Given the description of an element on the screen output the (x, y) to click on. 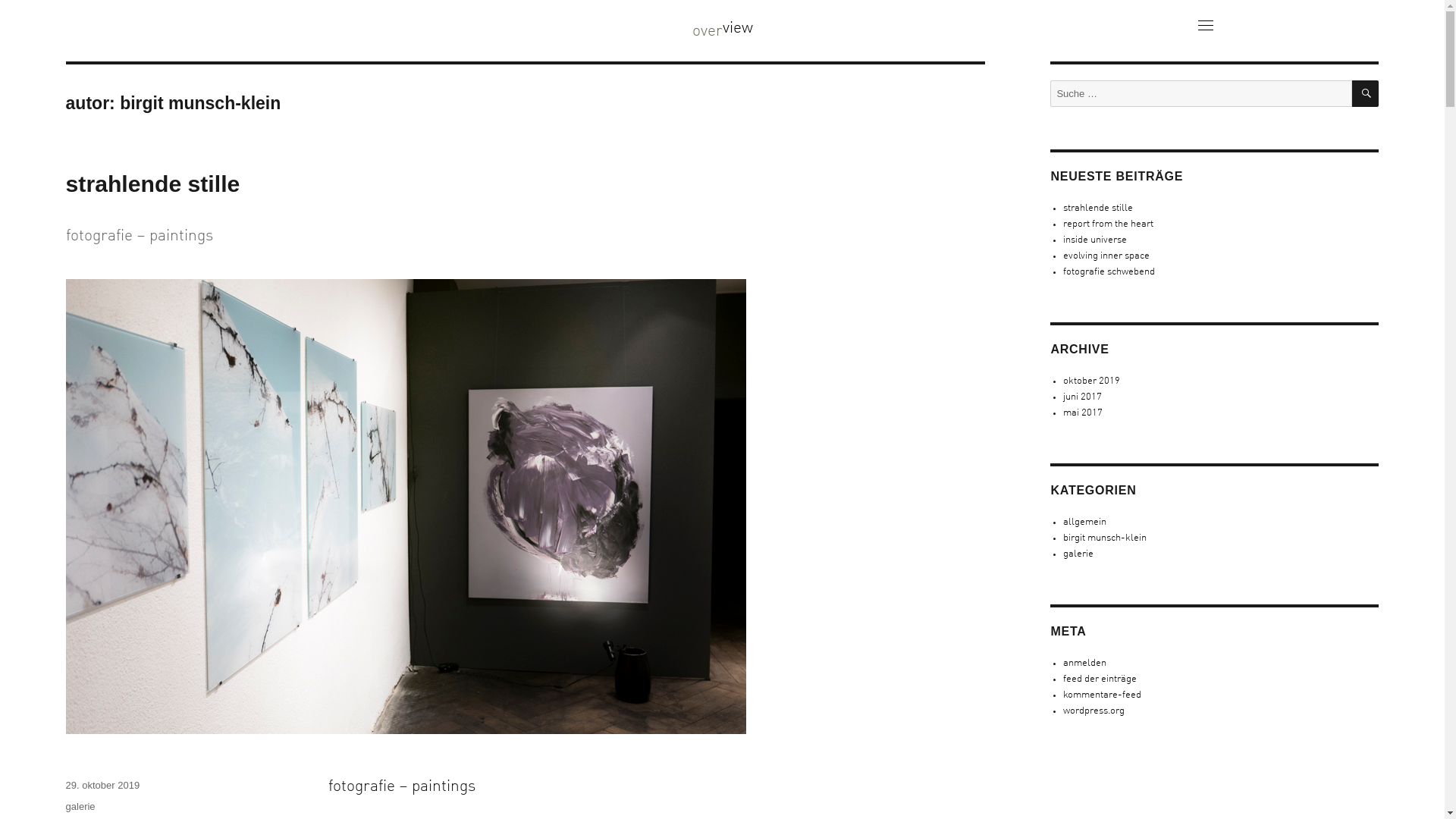
29. oktober 2019 Element type: text (102, 784)
birgit munsch-klein Element type: text (1104, 537)
mai 2017 Element type: text (1082, 412)
SUCHEN Element type: text (1365, 93)
wordpress.org Element type: text (1093, 710)
galerie Element type: text (80, 806)
over
view Element type: text (722, 32)
anmelden Element type: text (1084, 663)
inside universe Element type: text (1094, 239)
allgemein Element type: text (1084, 522)
fotografie schwebend Element type: text (1108, 271)
juni 2017 Element type: text (1082, 396)
strahlende stille Element type: text (152, 183)
oktober 2019 Element type: text (1091, 380)
TOP
CENTER
BOTTOM Element type: text (1202, 20)
evolving inner space Element type: text (1106, 255)
kommentare-feed Element type: text (1102, 694)
strahlende stille Element type: text (1097, 208)
galerie Element type: text (1078, 553)
report from the heart Element type: text (1108, 224)
